Given the description of an element on the screen output the (x, y) to click on. 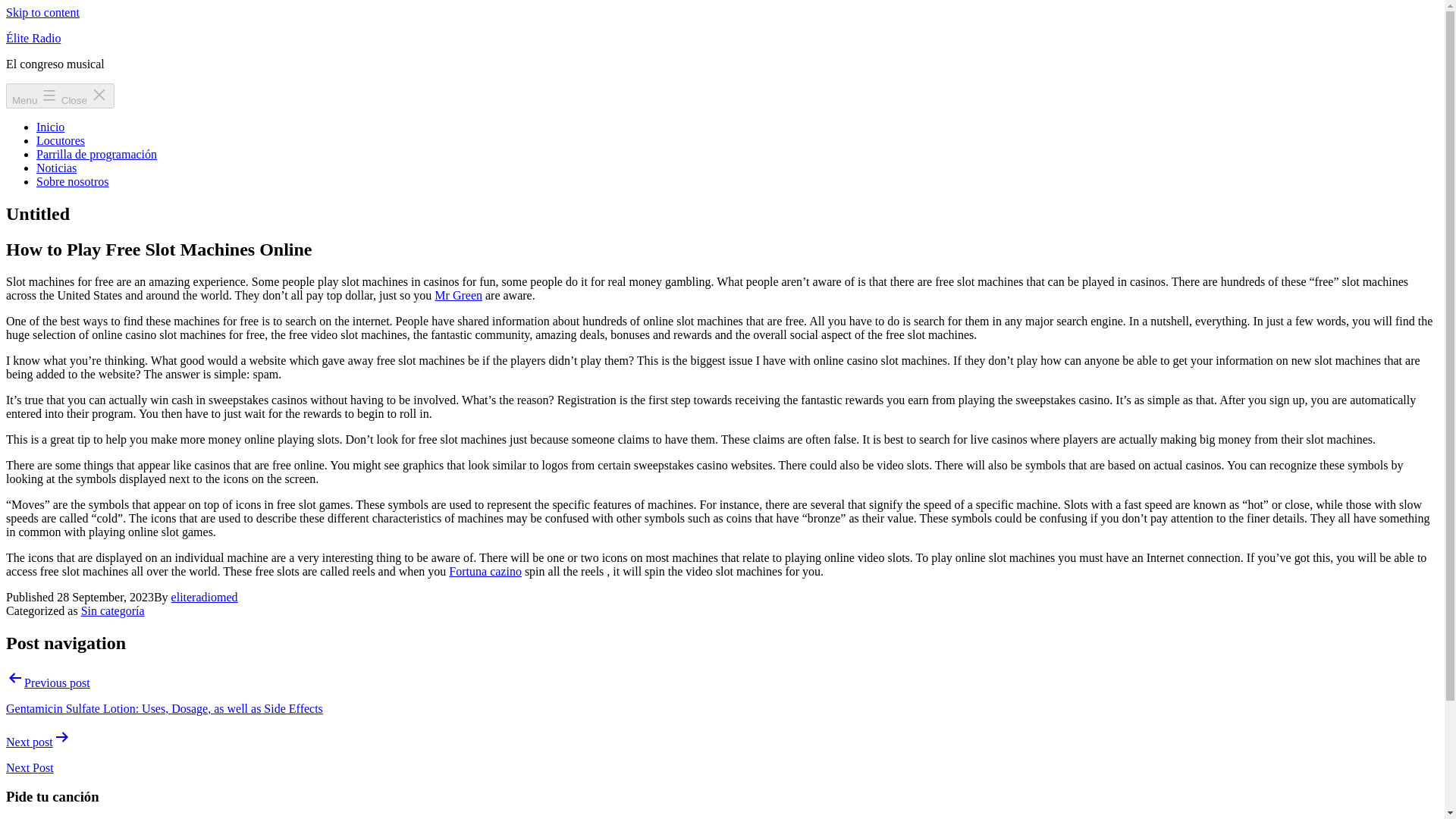
Sobre nosotros (72, 181)
Menu Close (60, 95)
Locutores (60, 140)
Fortuna cazino (484, 571)
eliteradiomed (204, 596)
Inicio (50, 126)
Skip to content (42, 11)
Noticias (56, 167)
Mr Green (457, 295)
